Given the description of an element on the screen output the (x, y) to click on. 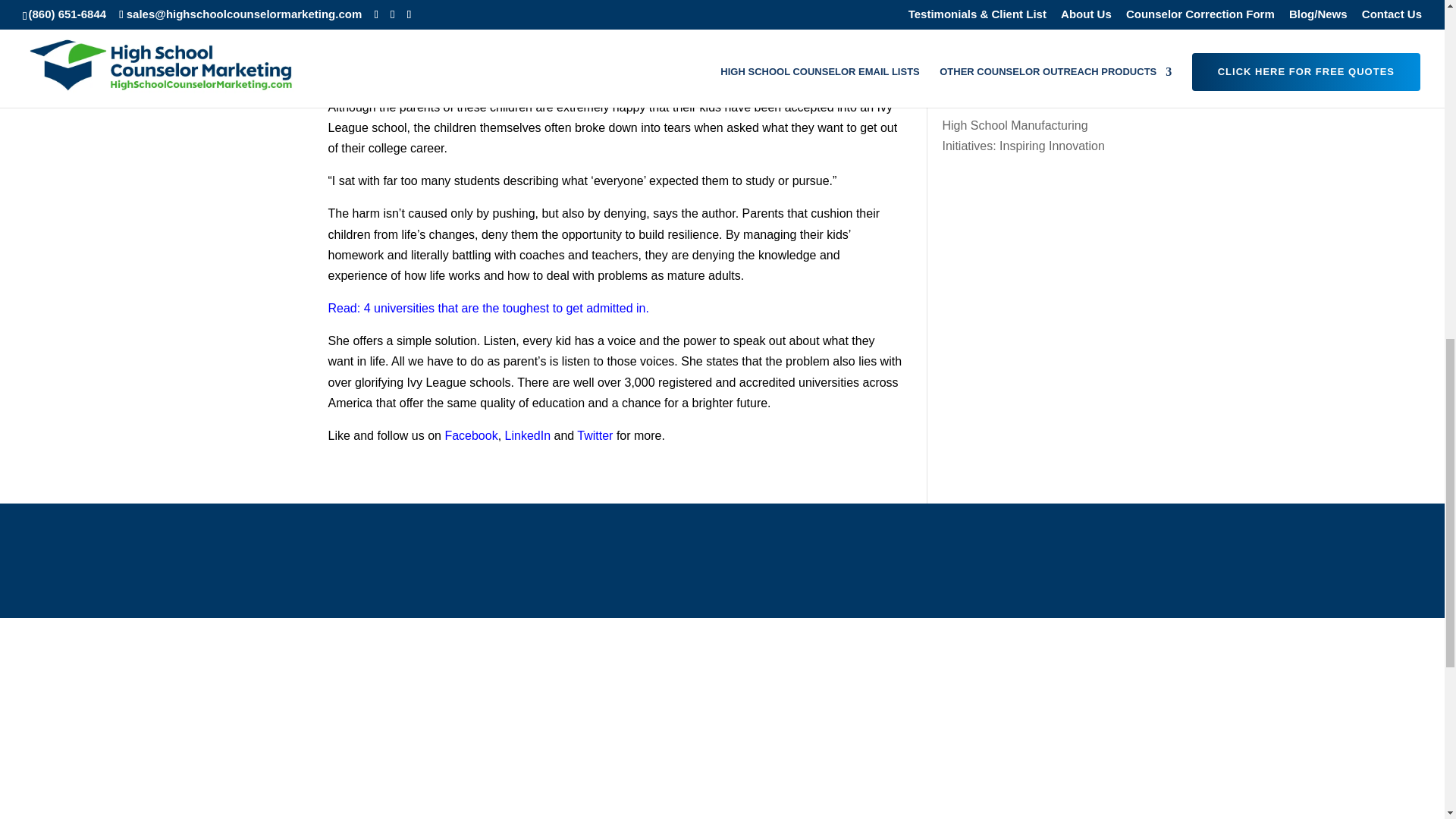
Twitter (594, 435)
Facebook (470, 435)
LinkedIn (528, 435)
